Given the description of an element on the screen output the (x, y) to click on. 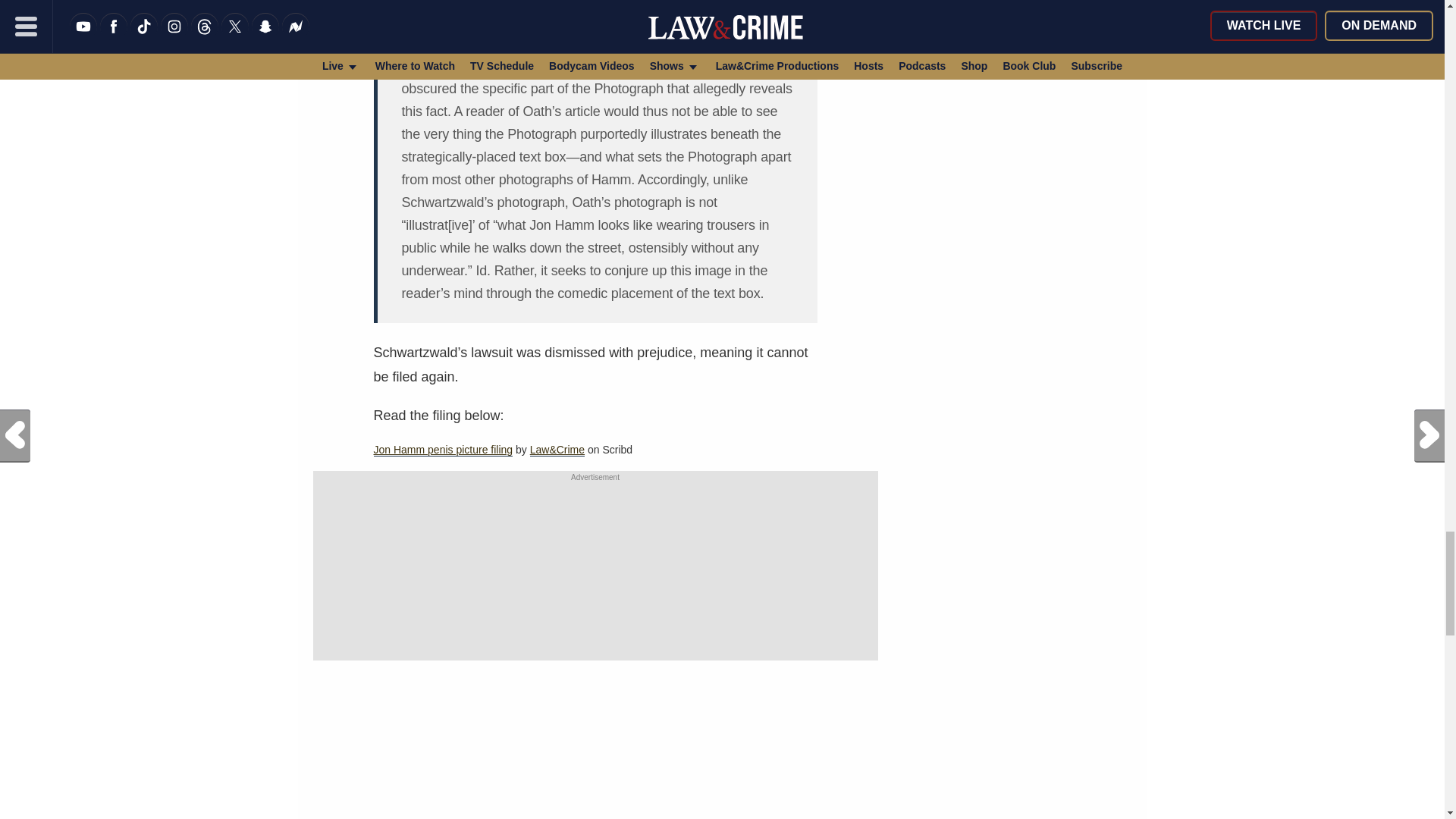
View Jon Hamm penis picture filing on Scribd (442, 449)
